Given the description of an element on the screen output the (x, y) to click on. 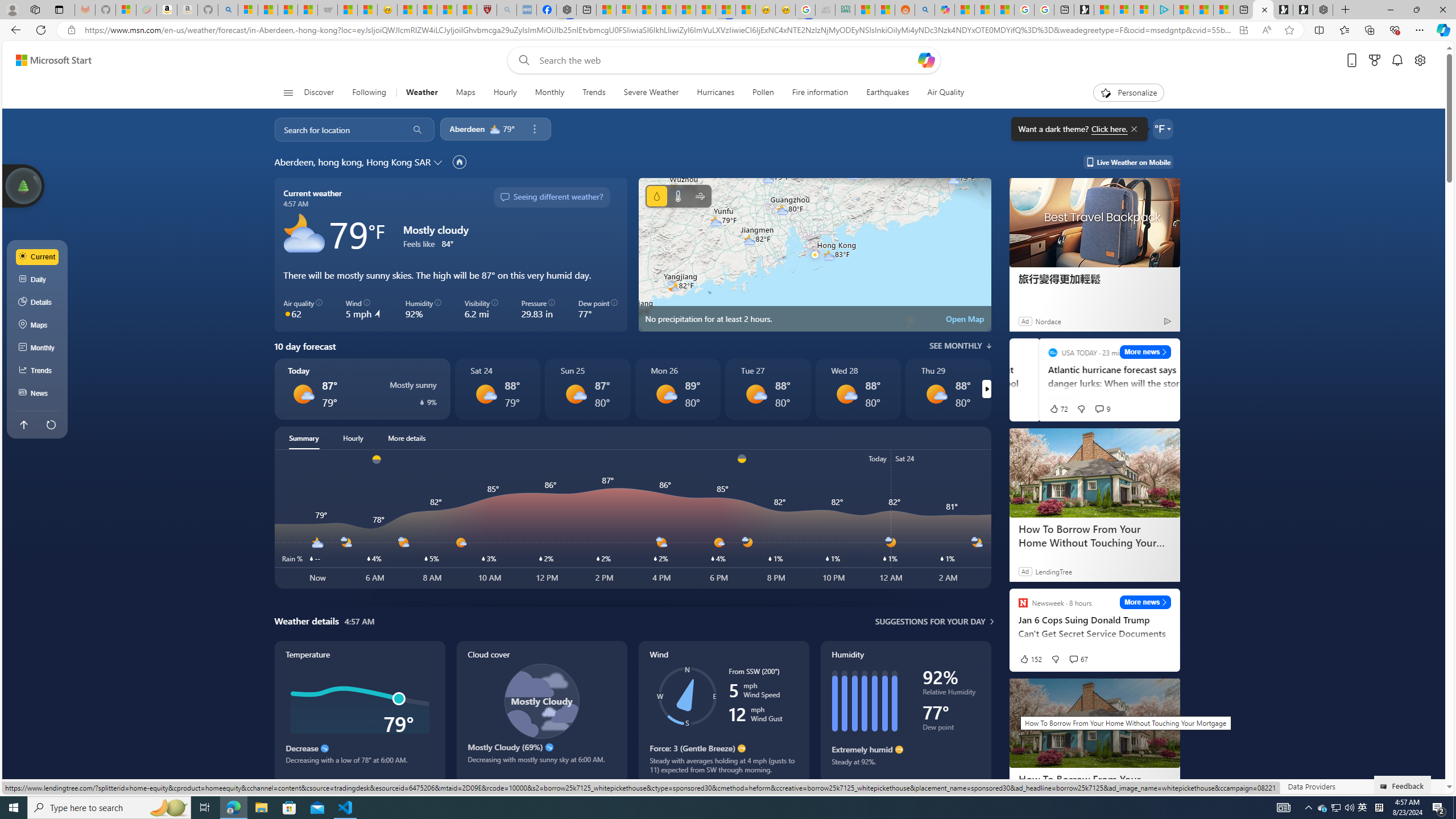
Pollen (763, 92)
Relative Humidity (951, 693)
Privacy & Cookies (1160, 786)
Utah sues federal government - Search (924, 9)
Consumer Health Privacy (1080, 786)
Decreasing with mostly sunny sky at 6:00 AM. (541, 764)
Humidity (905, 711)
